Given the description of an element on the screen output the (x, y) to click on. 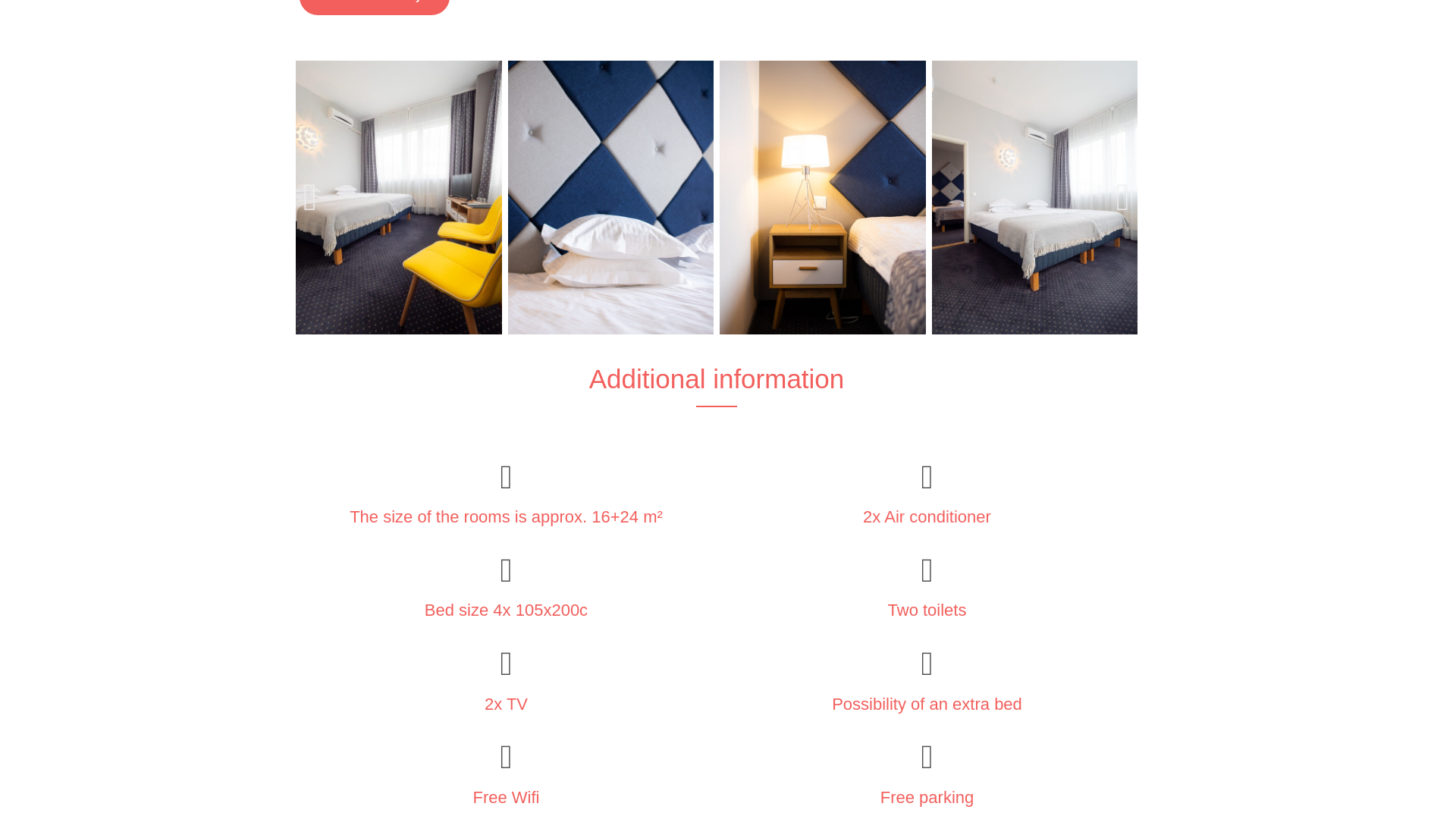
Ask for availability (374, 7)
